Given the description of an element on the screen output the (x, y) to click on. 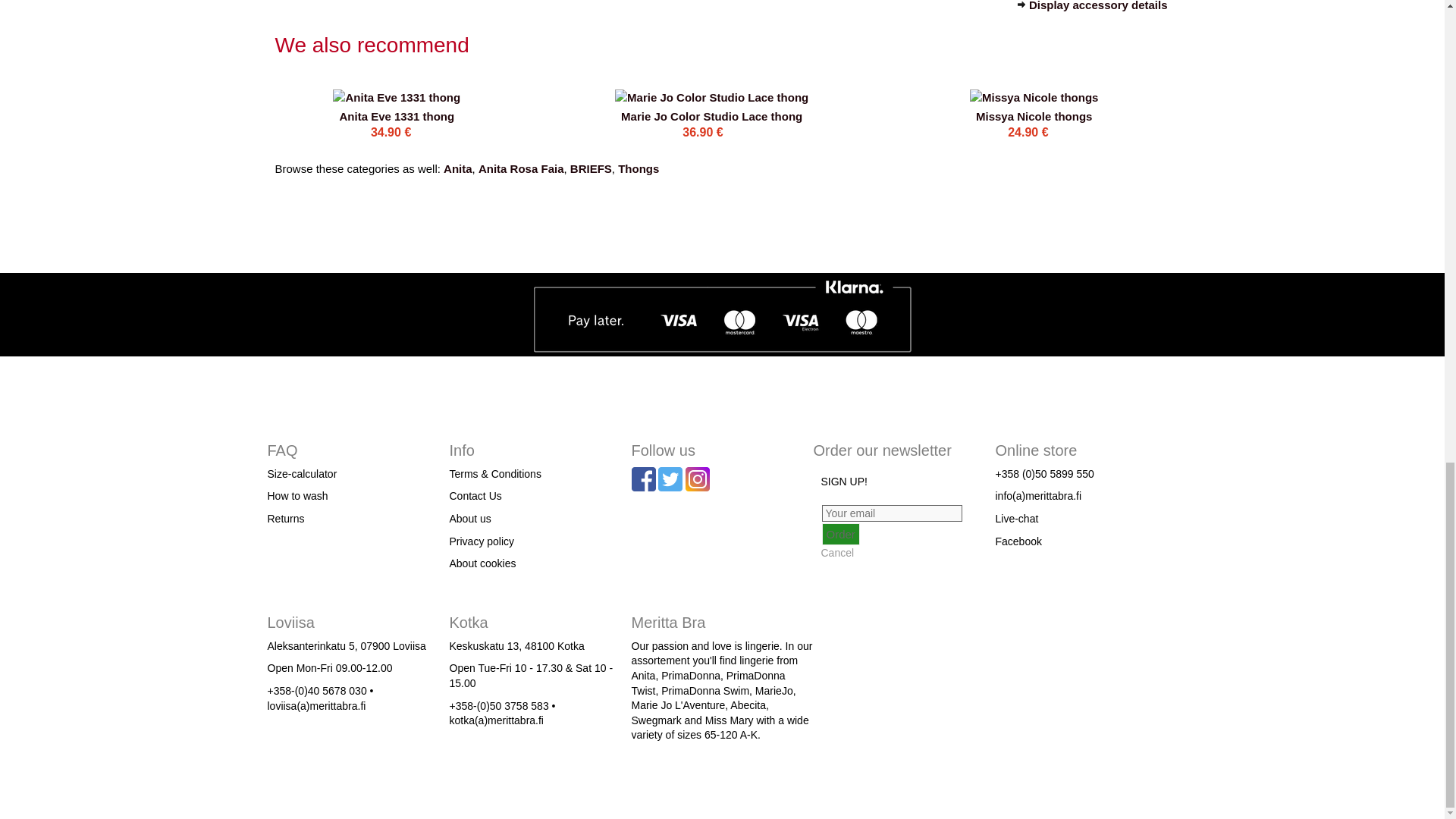
Go to product (711, 115)
Go to product (1033, 95)
Go to product (396, 115)
Go to product (396, 95)
ig2 (697, 478)
Go to product (711, 95)
This shop supports payment via Klarna Checkout. (721, 316)
Go to product (1033, 115)
